Given the description of an element on the screen output the (x, y) to click on. 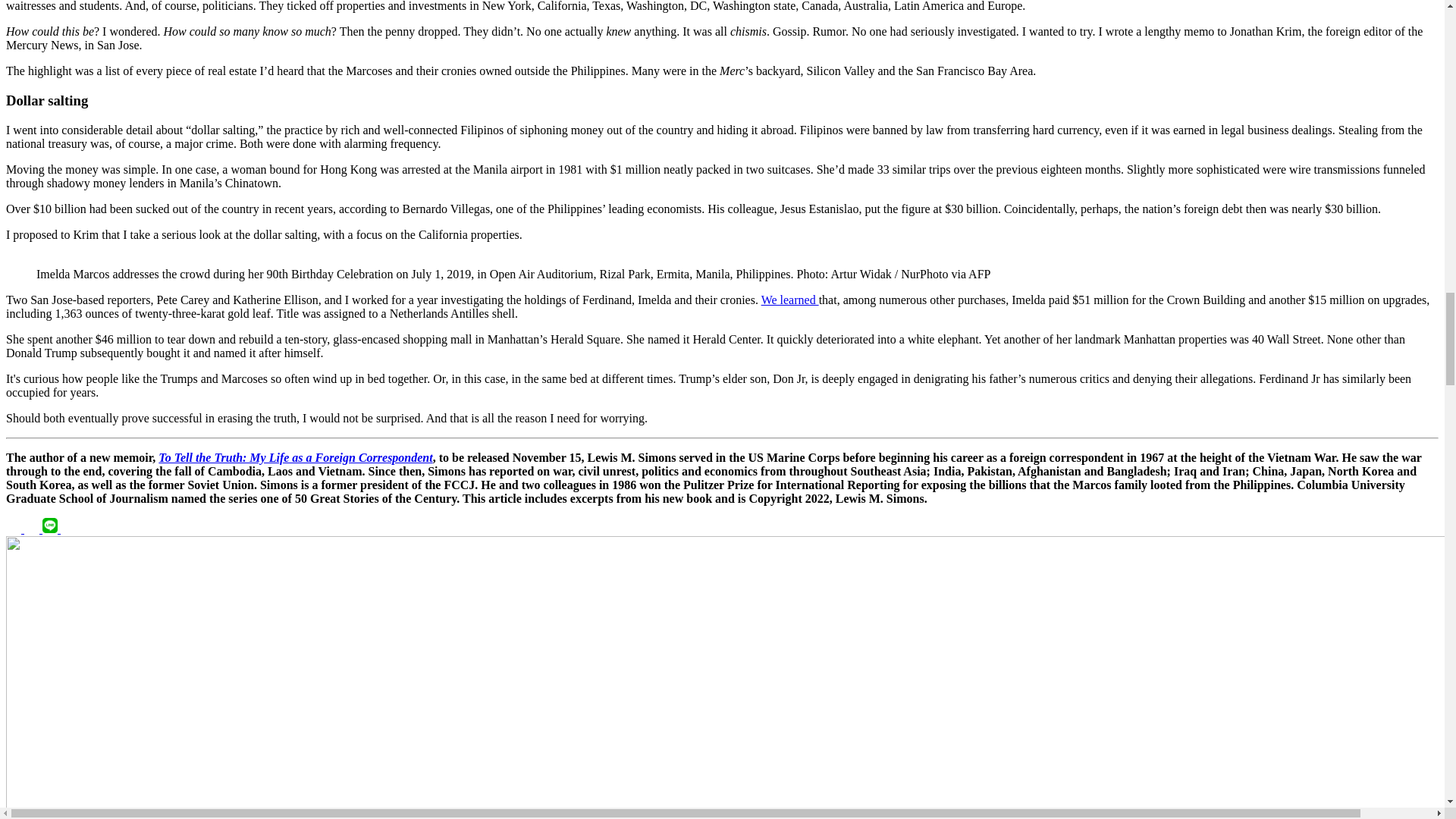
Share to E-mail (68, 528)
Share to Facebook (14, 528)
Share to Line (51, 528)
Share to Linkedin (33, 528)
